Given the description of an element on the screen output the (x, y) to click on. 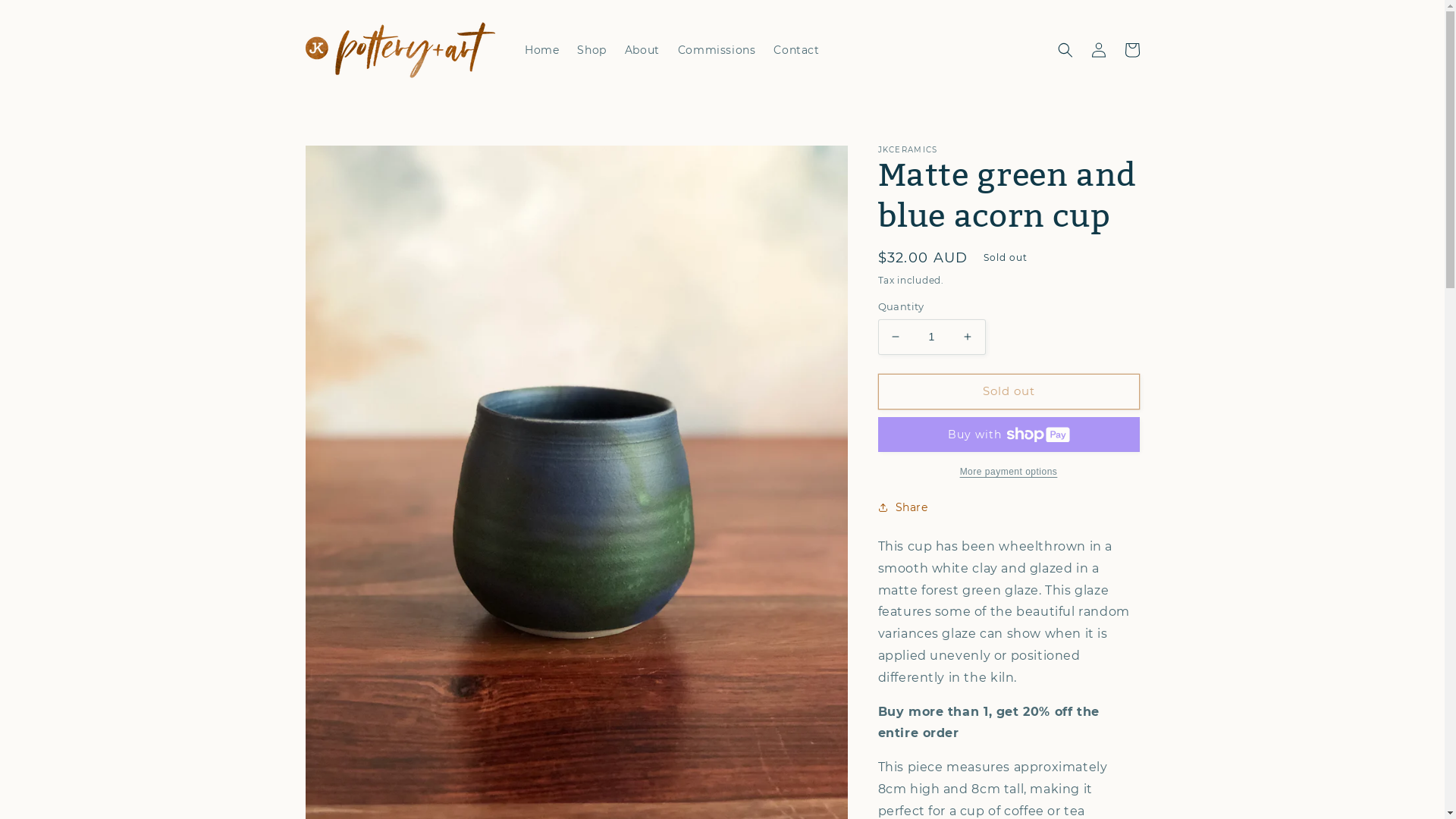
Skip to product information Element type: text (350, 162)
Sold out Element type: text (1008, 391)
More payment options Element type: text (1008, 471)
Log in Element type: text (1097, 49)
Contact Element type: text (796, 49)
Shop Element type: text (591, 49)
Home Element type: text (541, 49)
Decrease quantity for Matte green and blue acorn cup Element type: text (895, 336)
Increase quantity for Matte green and blue acorn cup Element type: text (967, 336)
About Element type: text (641, 49)
Commissions Element type: text (716, 49)
Cart Element type: text (1131, 49)
